Given the description of an element on the screen output the (x, y) to click on. 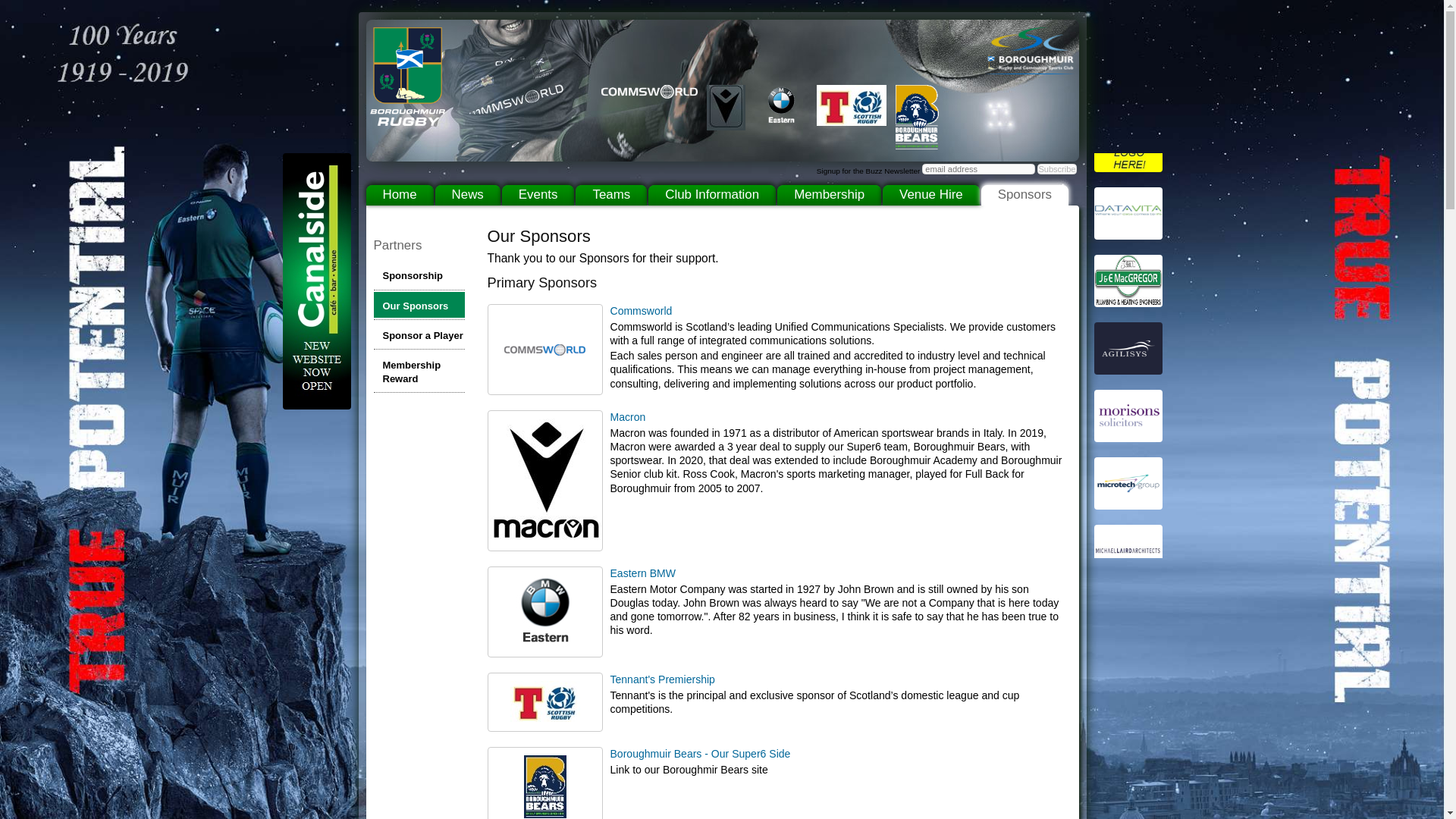
Commsworld (640, 310)
Subscribe (1055, 168)
Commsworld (544, 381)
Home (398, 195)
Eastern BMW (642, 573)
Events (538, 195)
Membership (828, 195)
Venue Hire (930, 195)
Tennant (662, 679)
Eastern BMW (544, 644)
Club Information (711, 195)
Boroughmuir Bears - Our Super6 Side (544, 814)
Tennant (544, 717)
Boroughmuir Bears - Our Super6 Side (700, 753)
News (467, 195)
